Given the description of an element on the screen output the (x, y) to click on. 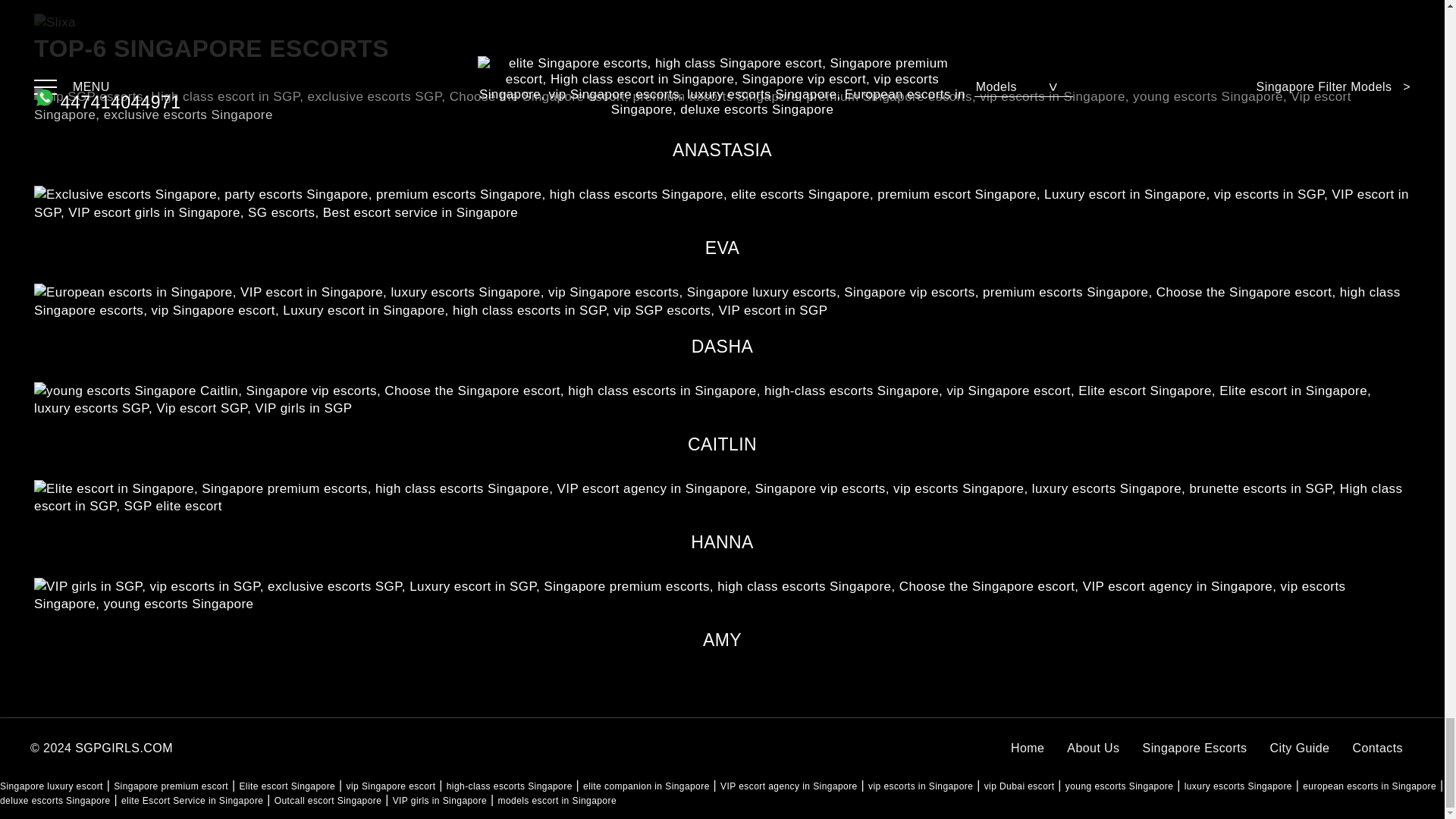
Outcall escort Singapore (328, 800)
Singapore luxury escort (51, 786)
Slixa (54, 22)
Elite escort Singapore (286, 786)
luxury escorts Singapore (1238, 786)
VIP escort agency in Singapore (788, 786)
elite Escort Service in Singapore (191, 800)
Singapore premium escort (170, 786)
Slixa (54, 22)
european escorts in Singapore (1369, 786)
